Given the description of an element on the screen output the (x, y) to click on. 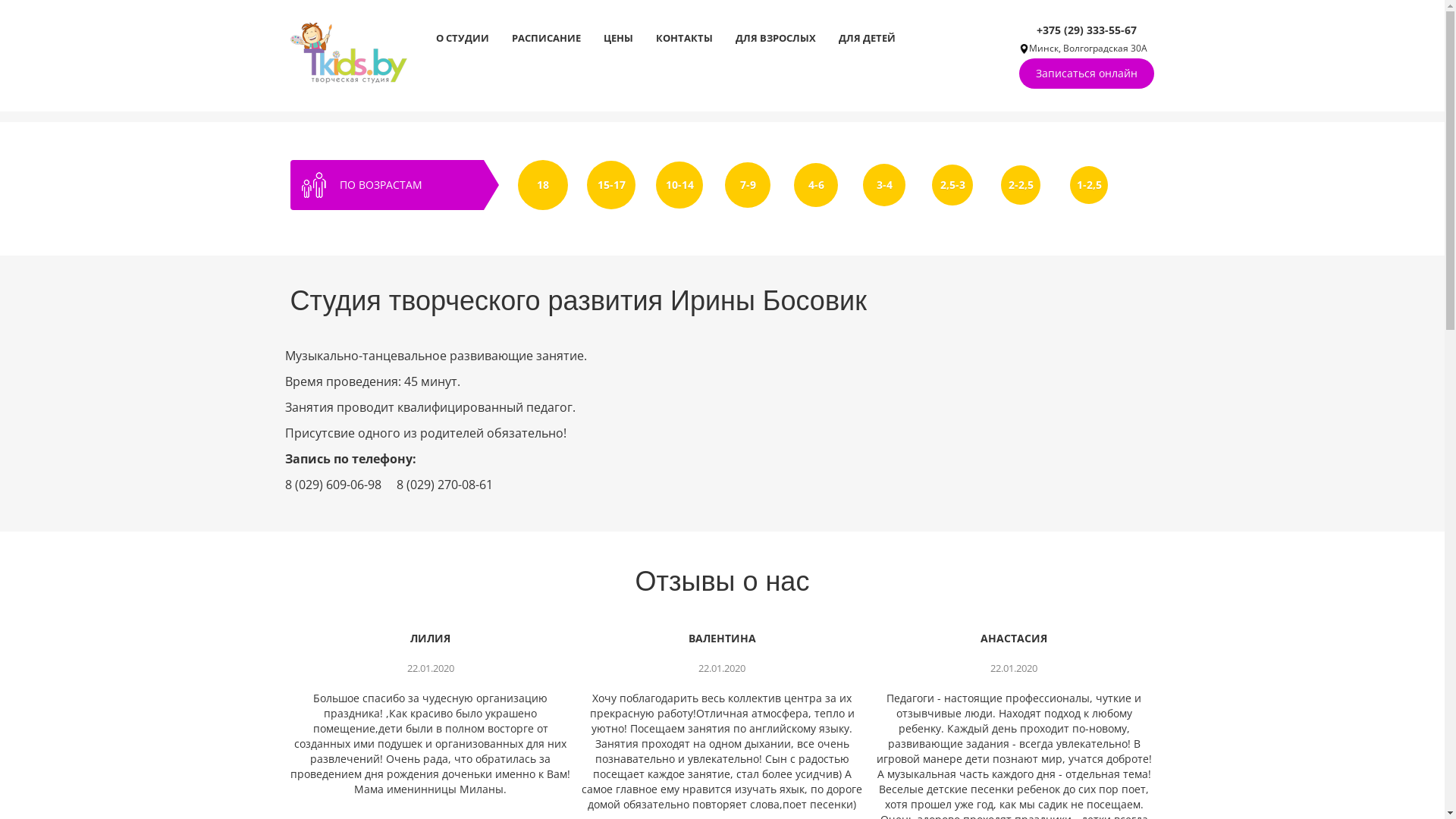
3-4 Element type: text (883, 184)
4-6 Element type: text (815, 185)
1-2,5 Element type: text (1088, 184)
tkids Element type: hover (347, 51)
15-17 Element type: text (610, 184)
18 Element type: text (542, 185)
7-9 Element type: text (747, 184)
10-14 Element type: text (678, 184)
2,5-3 Element type: text (951, 184)
2-2,5 Element type: text (1020, 184)
